Given the description of an element on the screen output the (x, y) to click on. 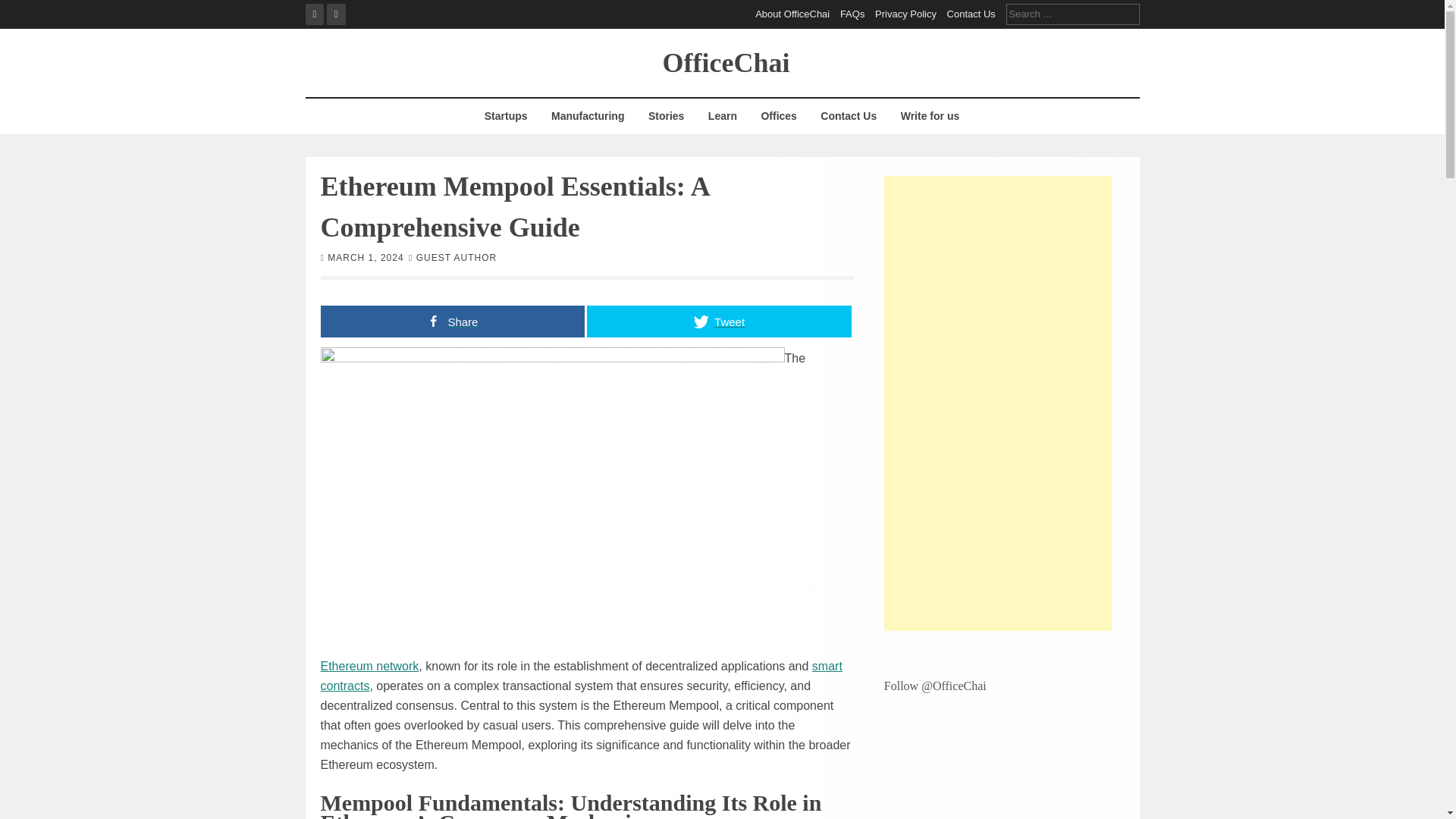
Contact Us (971, 13)
FAQs (852, 13)
Stories (666, 116)
Share (452, 320)
Search (23, 9)
Learn (722, 116)
Tweet (718, 320)
Write for us (930, 116)
smart contracts (580, 676)
Advertisement (997, 403)
Offices (778, 116)
Startups (505, 116)
About OfficeChai (792, 13)
MARCH 1, 2024 (365, 256)
